Given the description of an element on the screen output the (x, y) to click on. 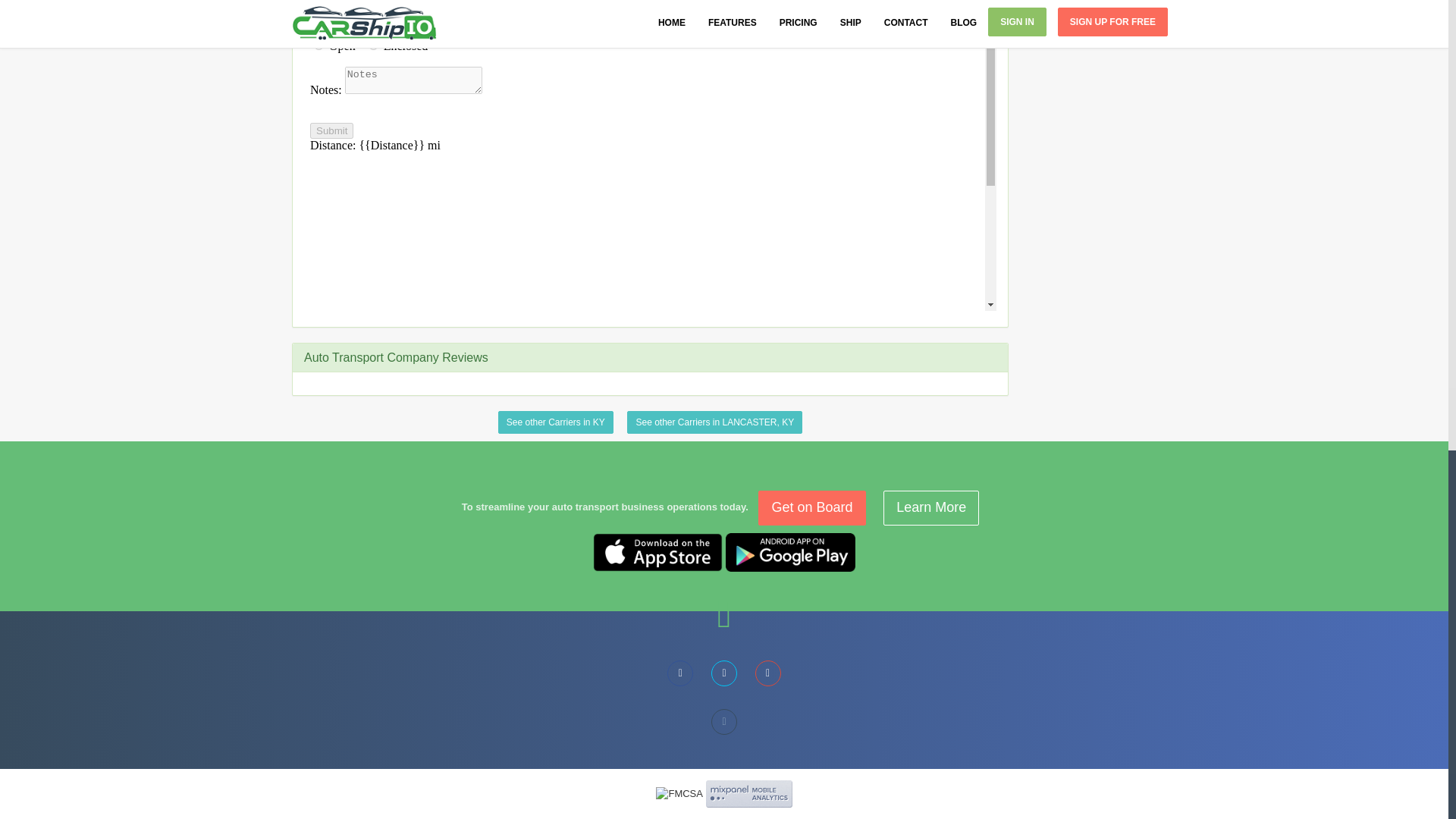
Get on Board (811, 507)
See other Carriers in KY (554, 422)
See other Carriers in LANCASTER, KY (714, 422)
Learn More (930, 507)
